Given the description of an element on the screen output the (x, y) to click on. 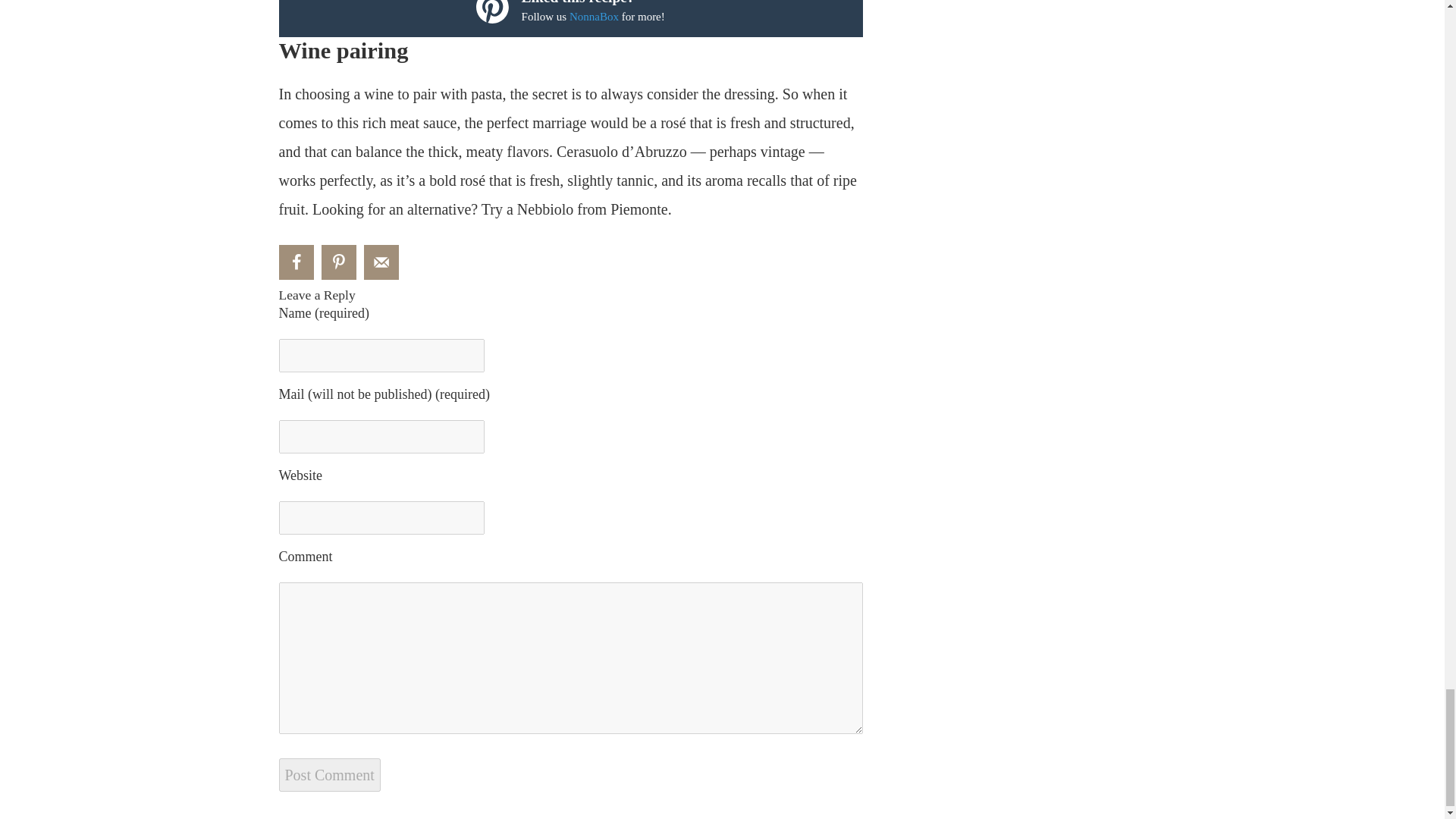
Share on Facebook (296, 262)
Send over email (381, 262)
Post Comment (329, 774)
Save to Pinterest (338, 262)
